Given the description of an element on the screen output the (x, y) to click on. 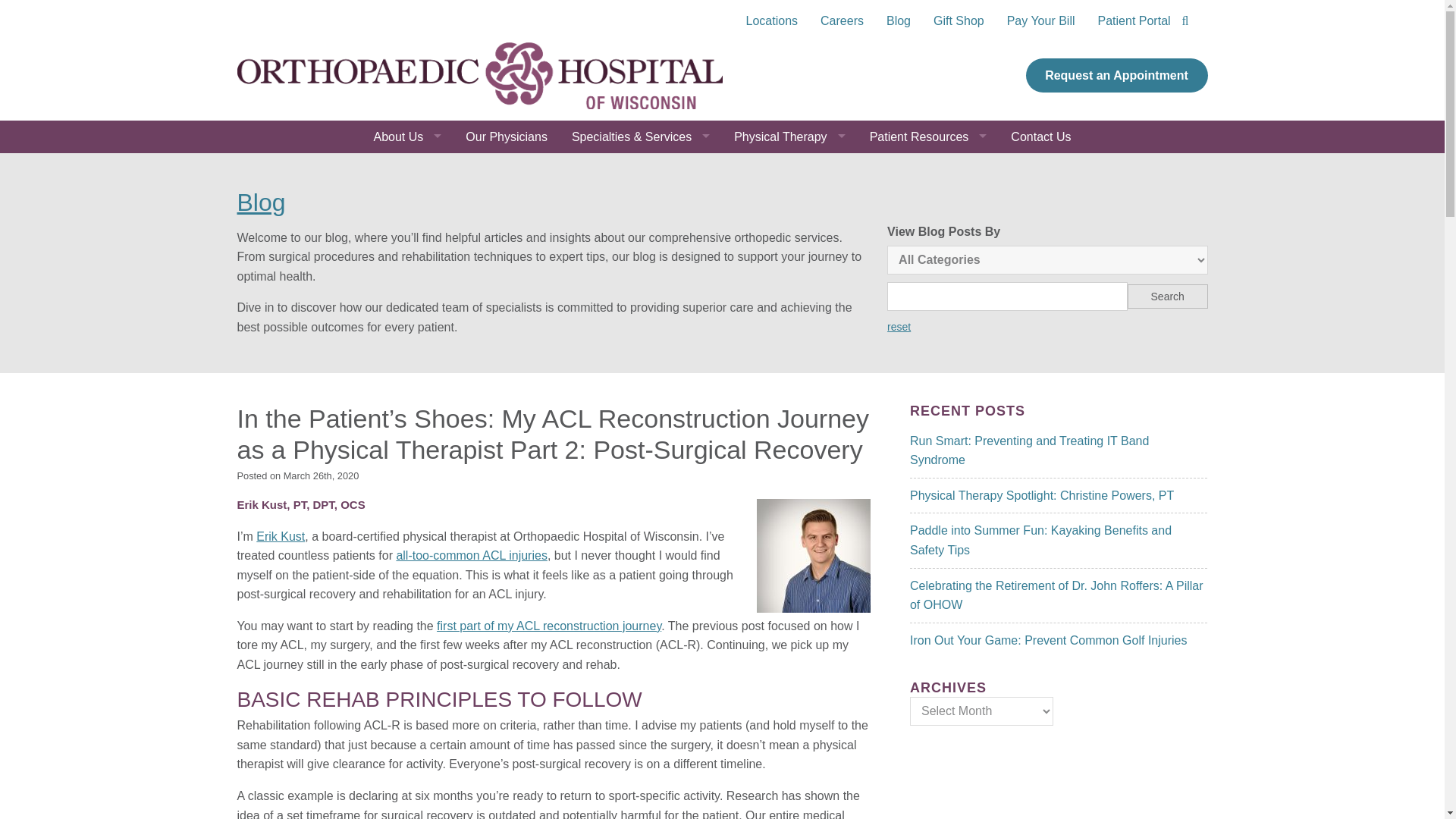
Careers (842, 20)
Locations (772, 20)
Search (1167, 296)
